Given the description of an element on the screen output the (x, y) to click on. 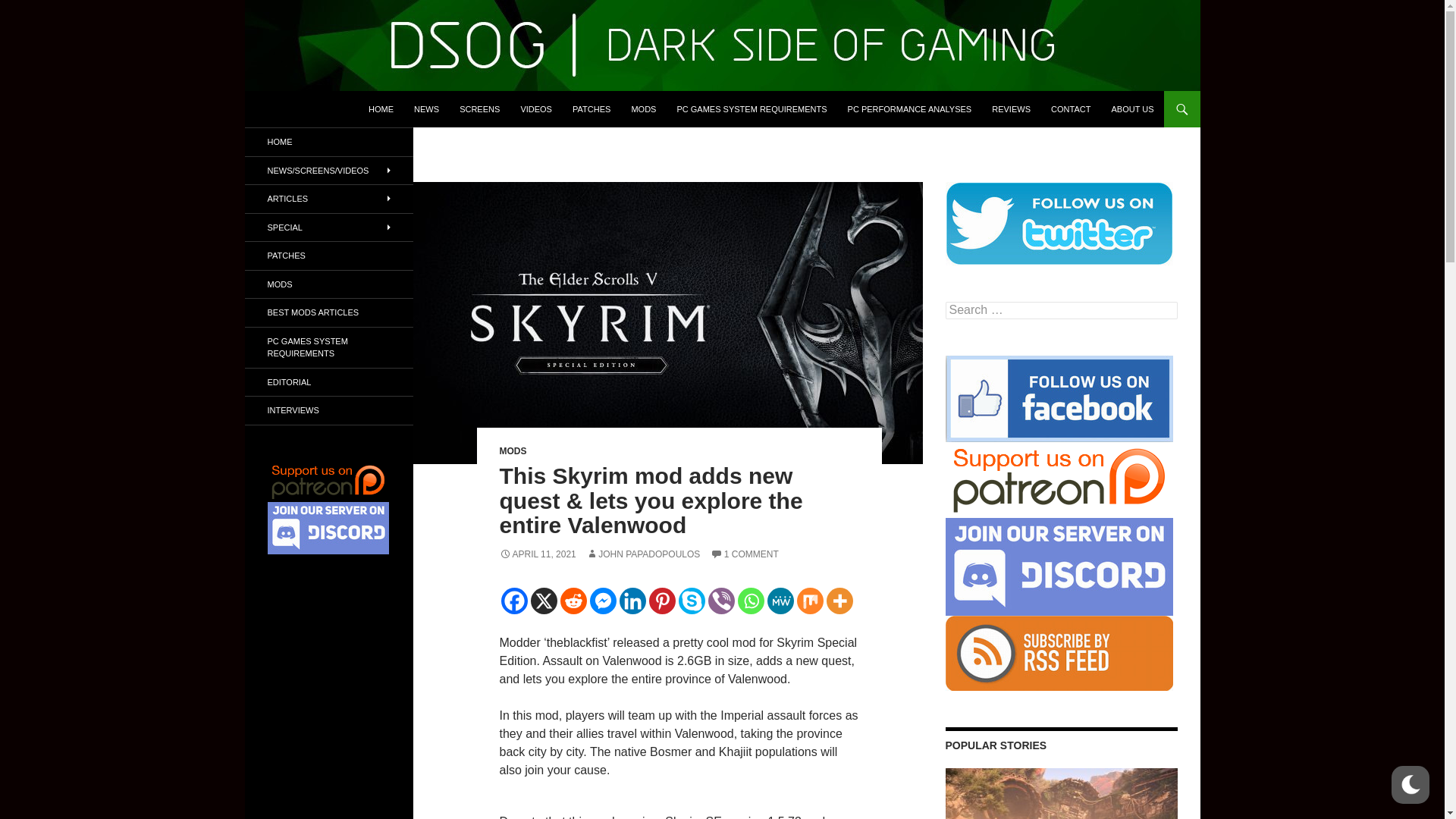
Pinterest (662, 601)
Viber (721, 601)
MODS (643, 108)
JOHN PAPADOPOULOS (643, 553)
Mix (809, 601)
VIDEOS (535, 108)
REVIEWS (1010, 108)
CONTACT (1070, 108)
1 COMMENT (744, 553)
ABOUT US (1131, 108)
